Given the description of an element on the screen output the (x, y) to click on. 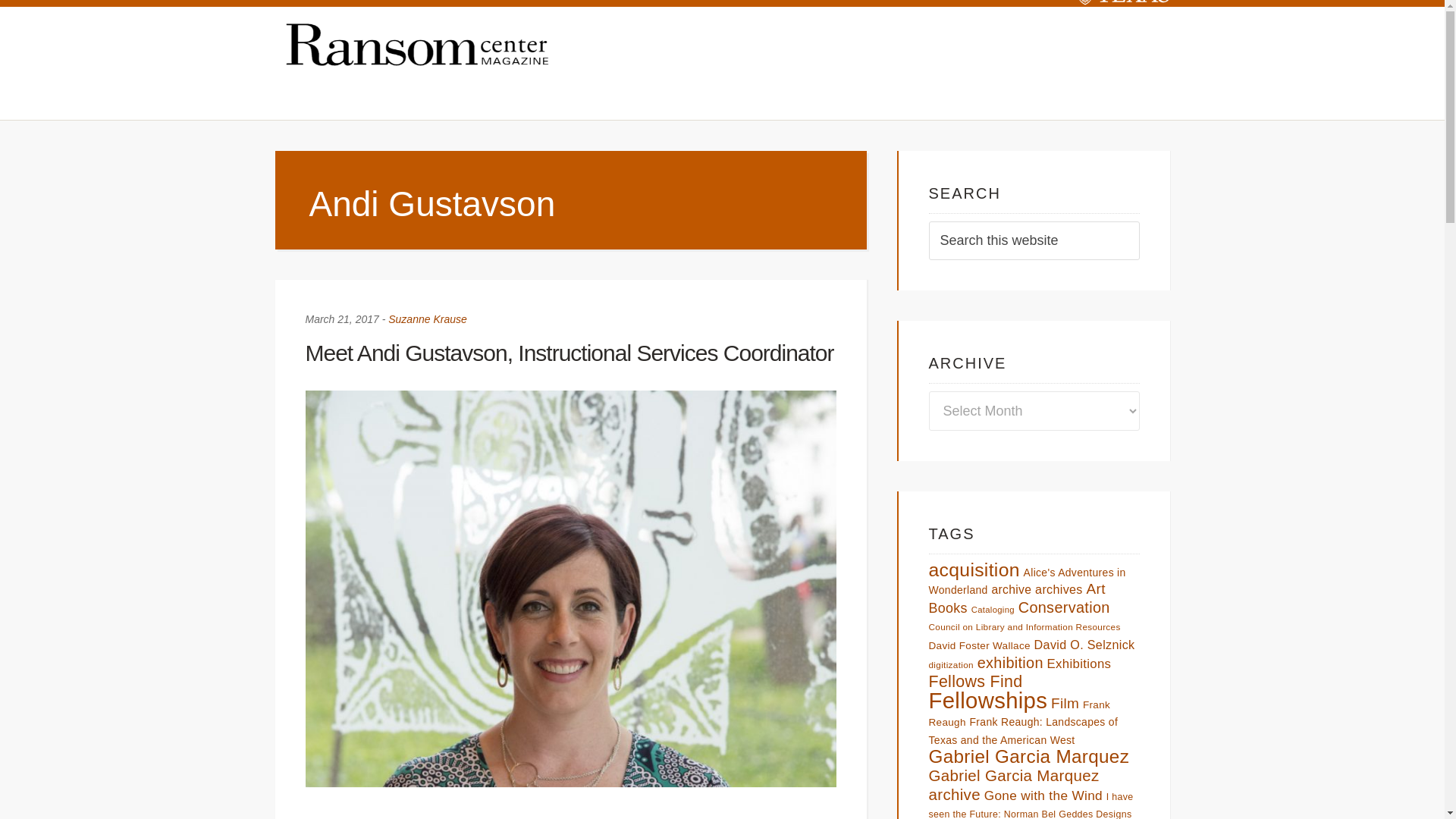
Suzanne Krause (427, 318)
PRINT EDITION (1106, 96)
SECTIONS (322, 96)
ARCHIVE (706, 96)
Meet Andi Gustavson, Instructional Services Coordinator (568, 352)
